Given the description of an element on the screen output the (x, y) to click on. 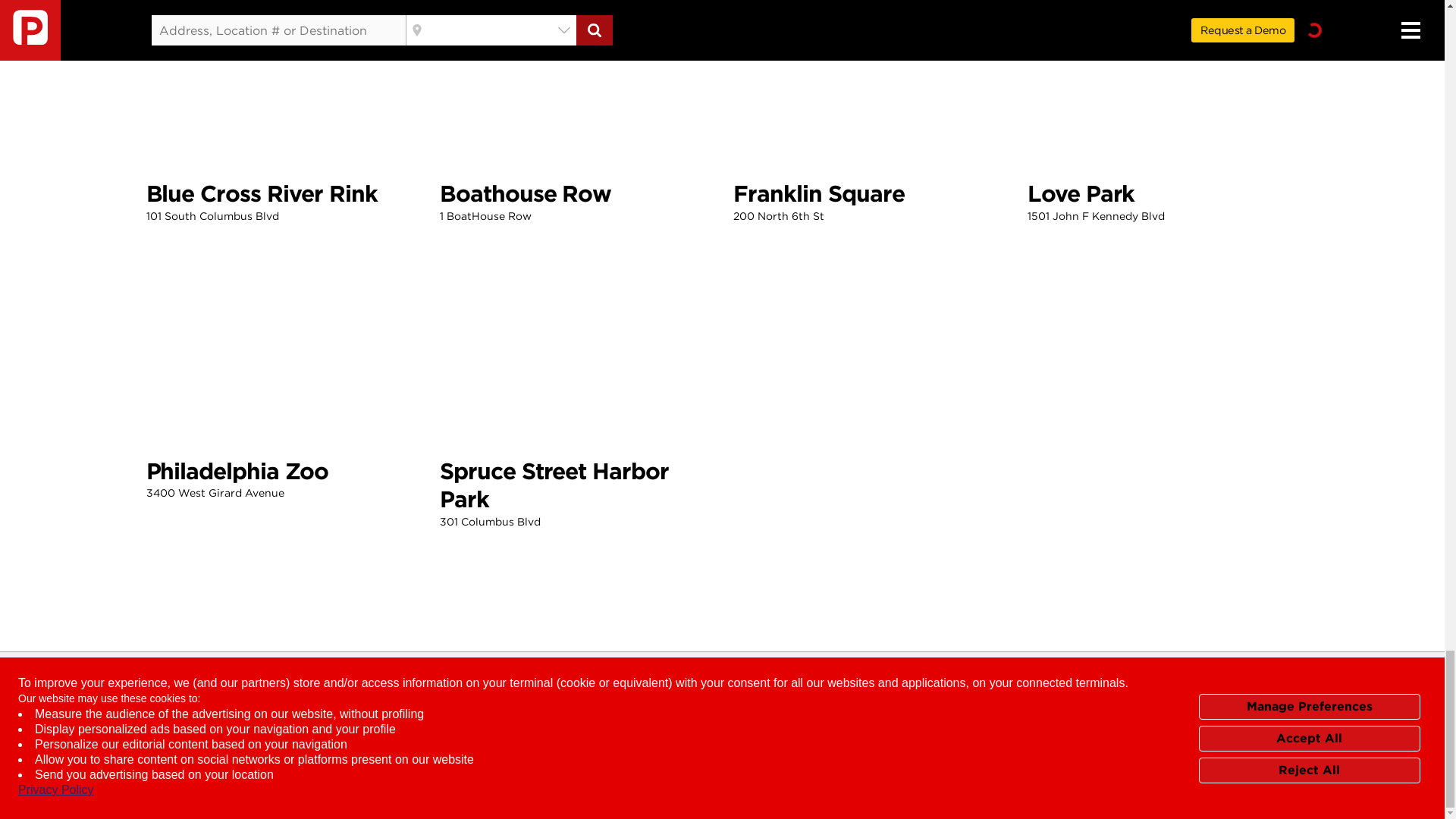
Premium Parking (1414, 788)
Vimeo (788, 788)
Youtube (735, 788)
